Given the description of an element on the screen output the (x, y) to click on. 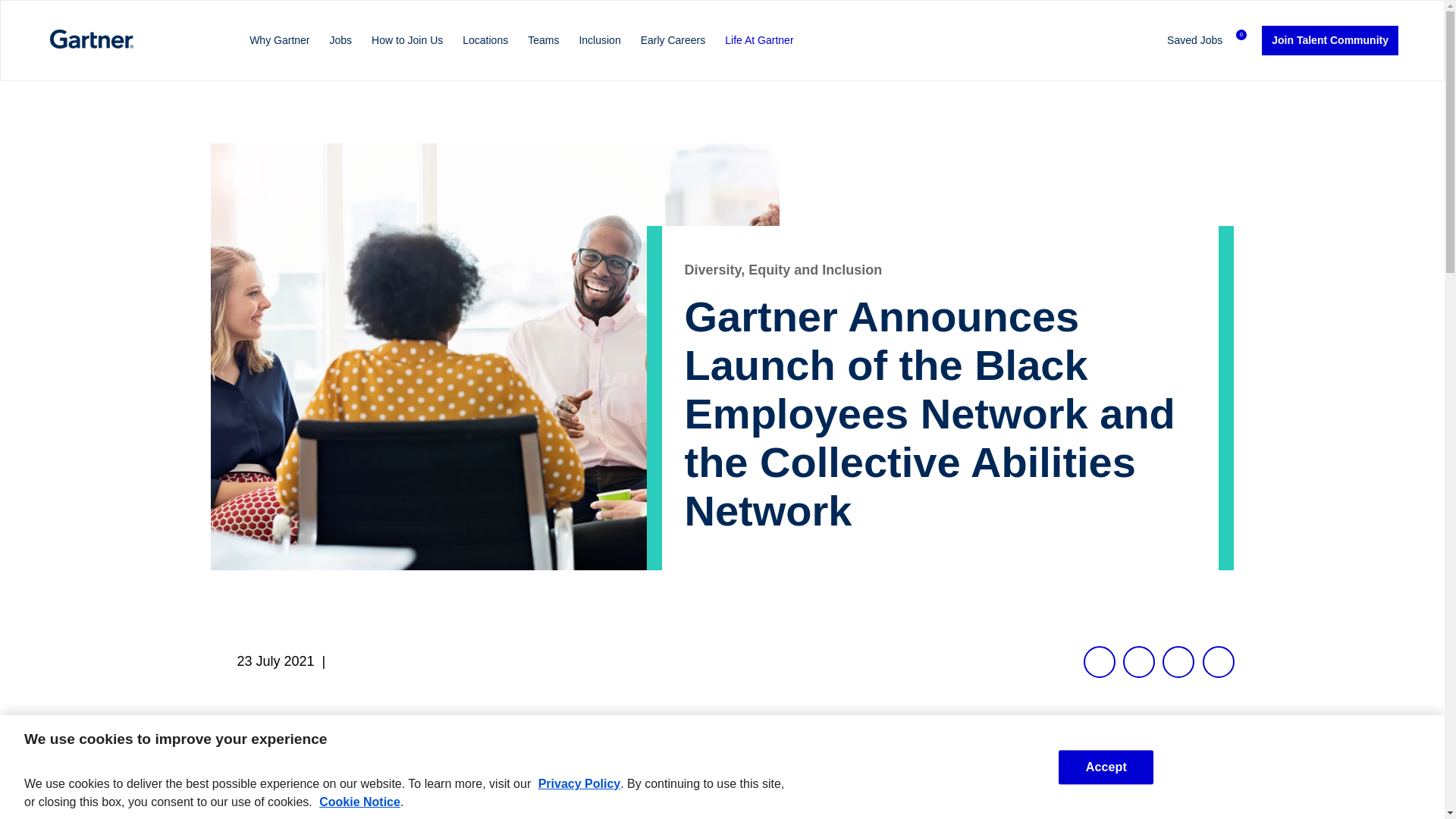
How to Join Us (407, 40)
Locations (485, 40)
Why Gartner (279, 40)
Teams (543, 40)
Jobs (341, 40)
